Given the description of an element on the screen output the (x, y) to click on. 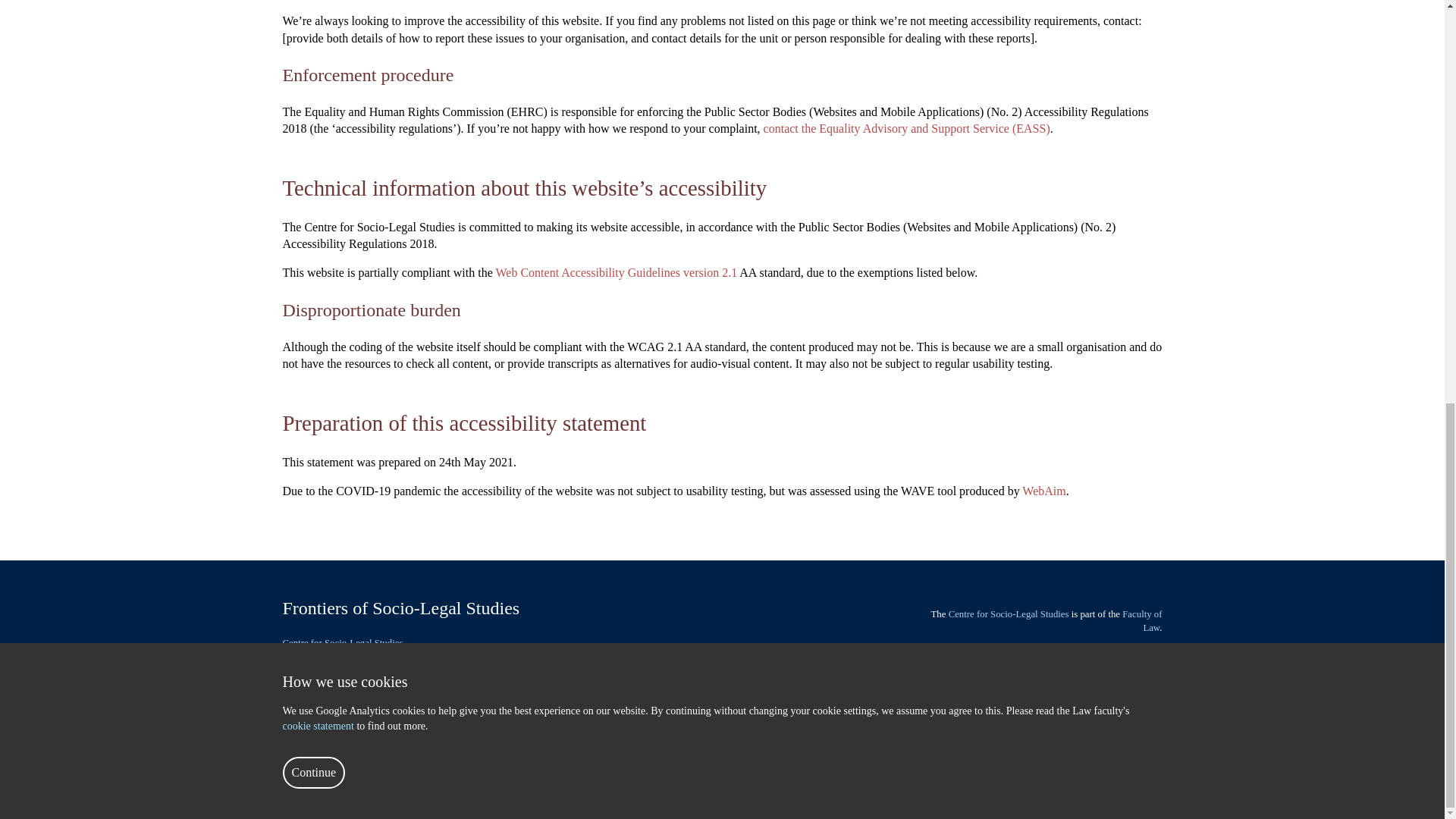
Web Content Accessibility Guidelines version 2.1 (617, 272)
Centre for Socio-Legal Studies (1008, 614)
Centre for Socio-Legal Studies (342, 643)
WebAim (1043, 490)
